Given the description of an element on the screen output the (x, y) to click on. 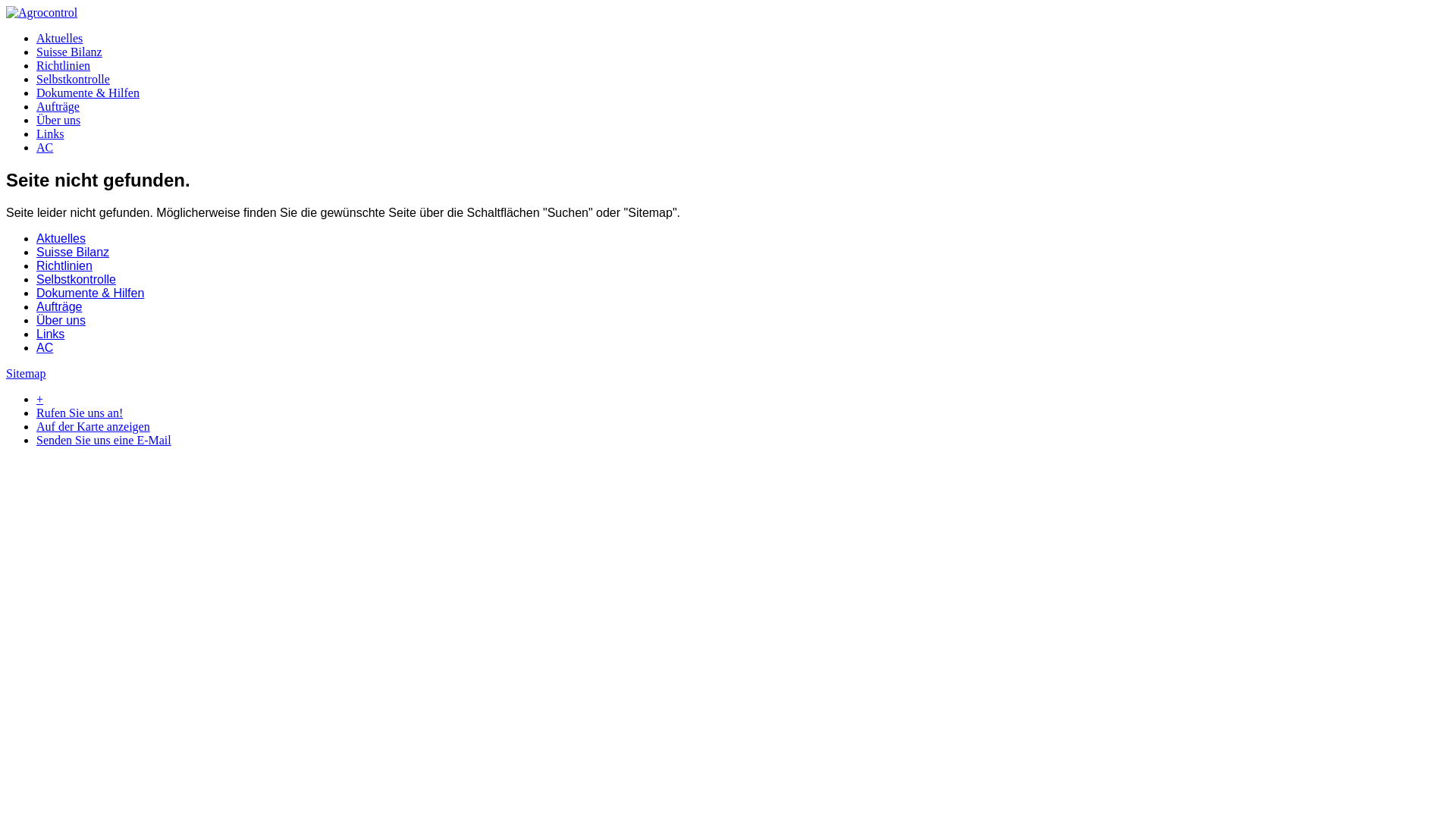
Selbstkontrolle Element type: text (72, 78)
Sitemap Element type: text (25, 373)
Auf der Karte anzeigen Element type: text (93, 426)
Links Element type: text (50, 333)
Selbstkontrolle Element type: text (76, 279)
Rufen Sie uns an! Element type: text (79, 412)
Dokumente & Hilfen Element type: text (87, 92)
Senden Sie uns eine E-Mail Element type: text (103, 439)
Aktuelles Element type: text (59, 37)
+ Element type: text (39, 398)
Richtlinien Element type: text (63, 65)
Suisse Bilanz Element type: text (72, 251)
AC Element type: text (44, 147)
Dokumente & Hilfen Element type: text (90, 292)
AC Element type: text (44, 347)
Suisse Bilanz Element type: text (69, 51)
Richtlinien Element type: text (64, 265)
Aktuelles Element type: text (60, 238)
Links Element type: text (49, 133)
